Given the description of an element on the screen output the (x, y) to click on. 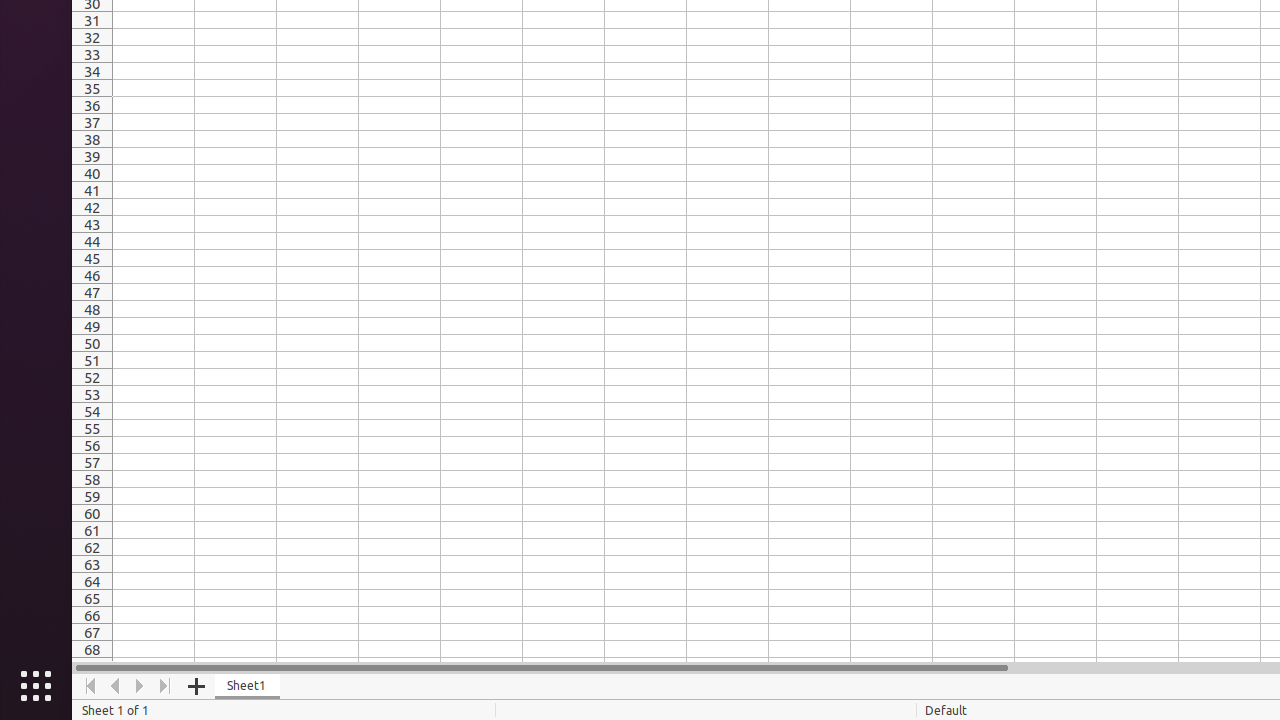
Move Right Element type: push-button (140, 686)
Sheet1 Element type: page-tab (247, 686)
Move To Home Element type: push-button (90, 686)
Move To End Element type: push-button (165, 686)
Show Applications Element type: toggle-button (36, 686)
